Given the description of an element on the screen output the (x, y) to click on. 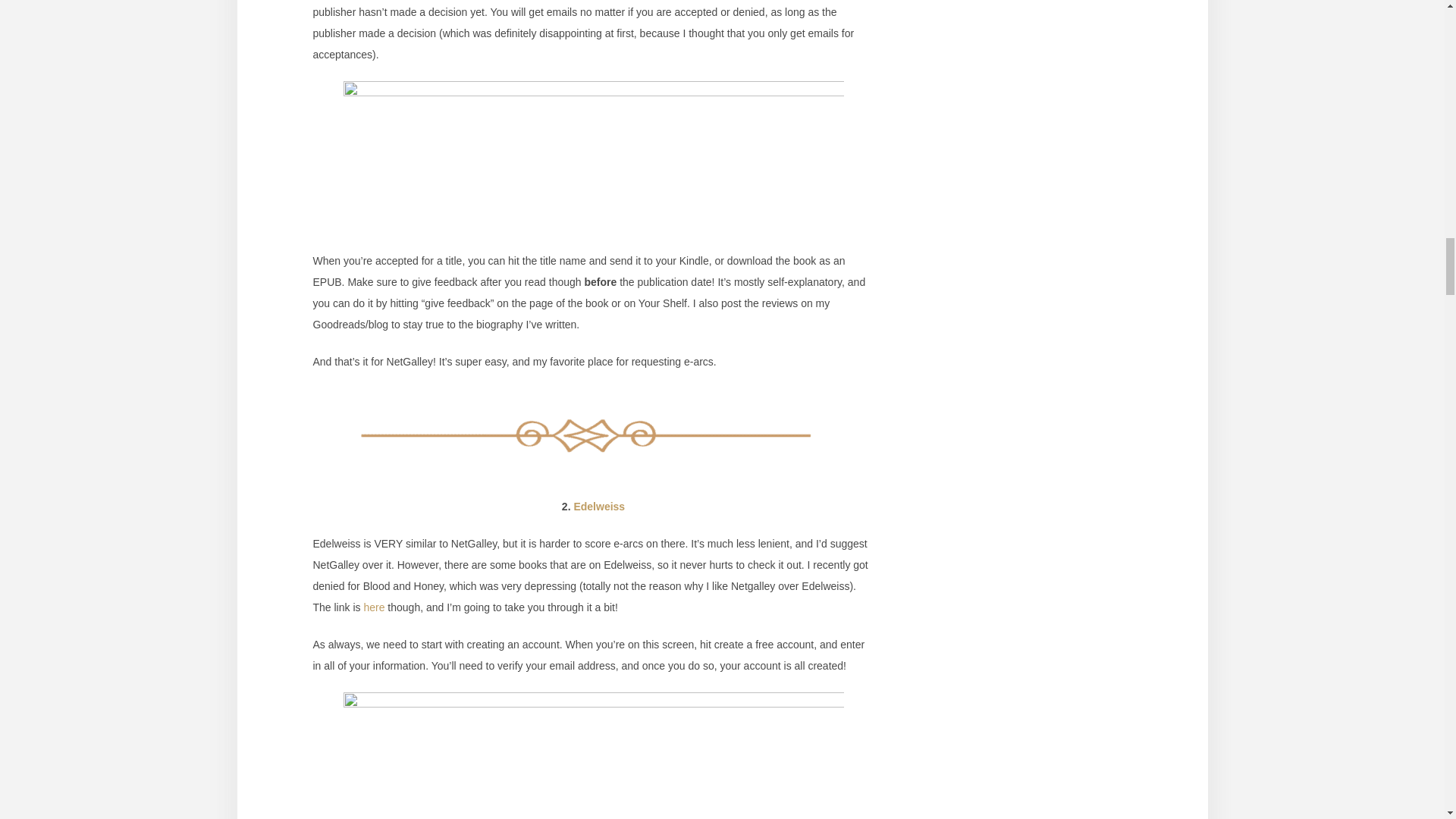
Edelweiss (598, 506)
here (373, 607)
